Given the description of an element on the screen output the (x, y) to click on. 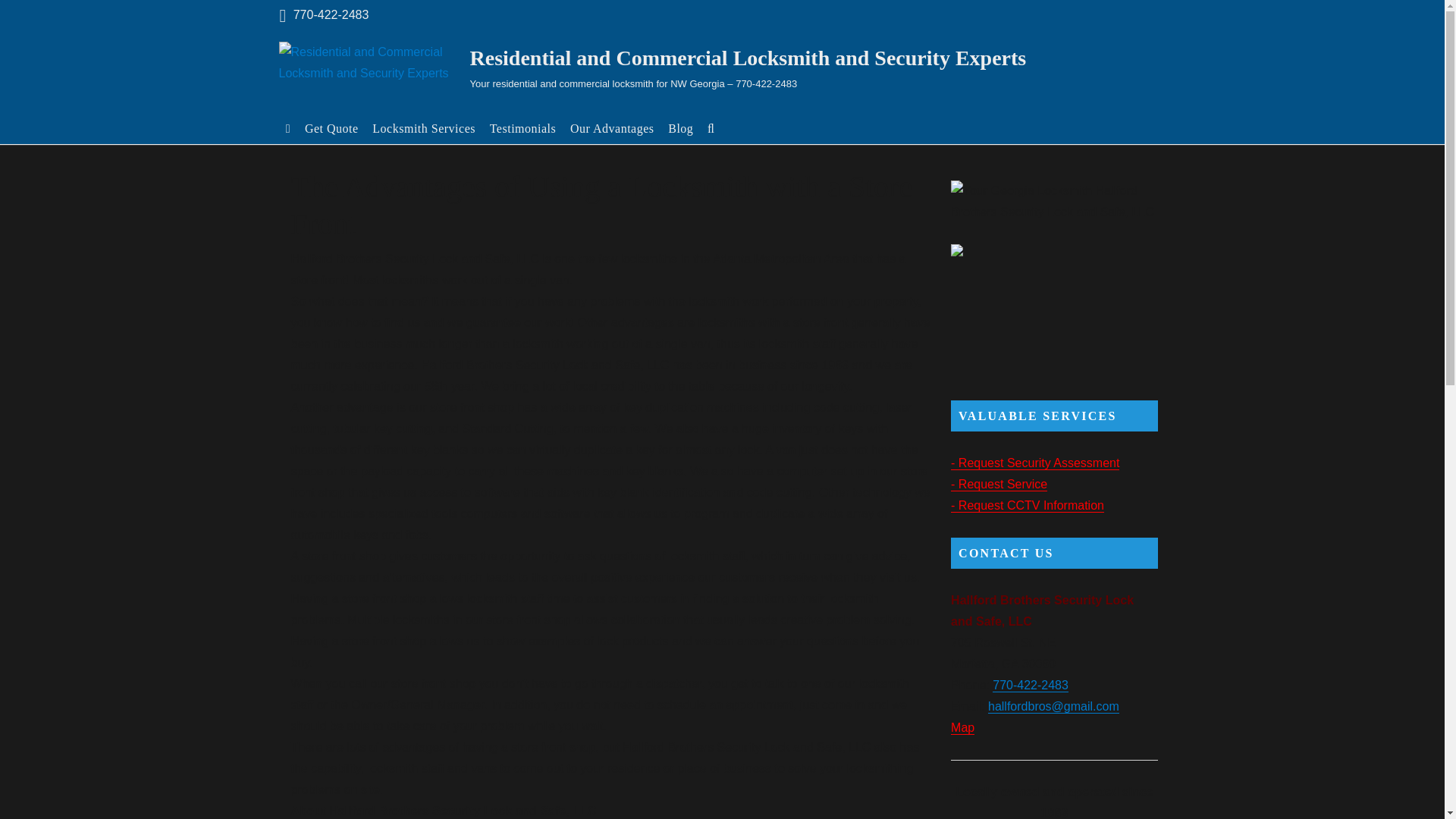
Blog (680, 128)
- Request Security Assessment (1034, 462)
Map (962, 727)
- Request Service (998, 483)
Testimonials (521, 128)
Locksmith Services (423, 128)
Our Advantages (612, 128)
Your Georgia Locksmith (1053, 201)
Get Quote (331, 128)
- Request CCTV Information (1026, 504)
